Given the description of an element on the screen output the (x, y) to click on. 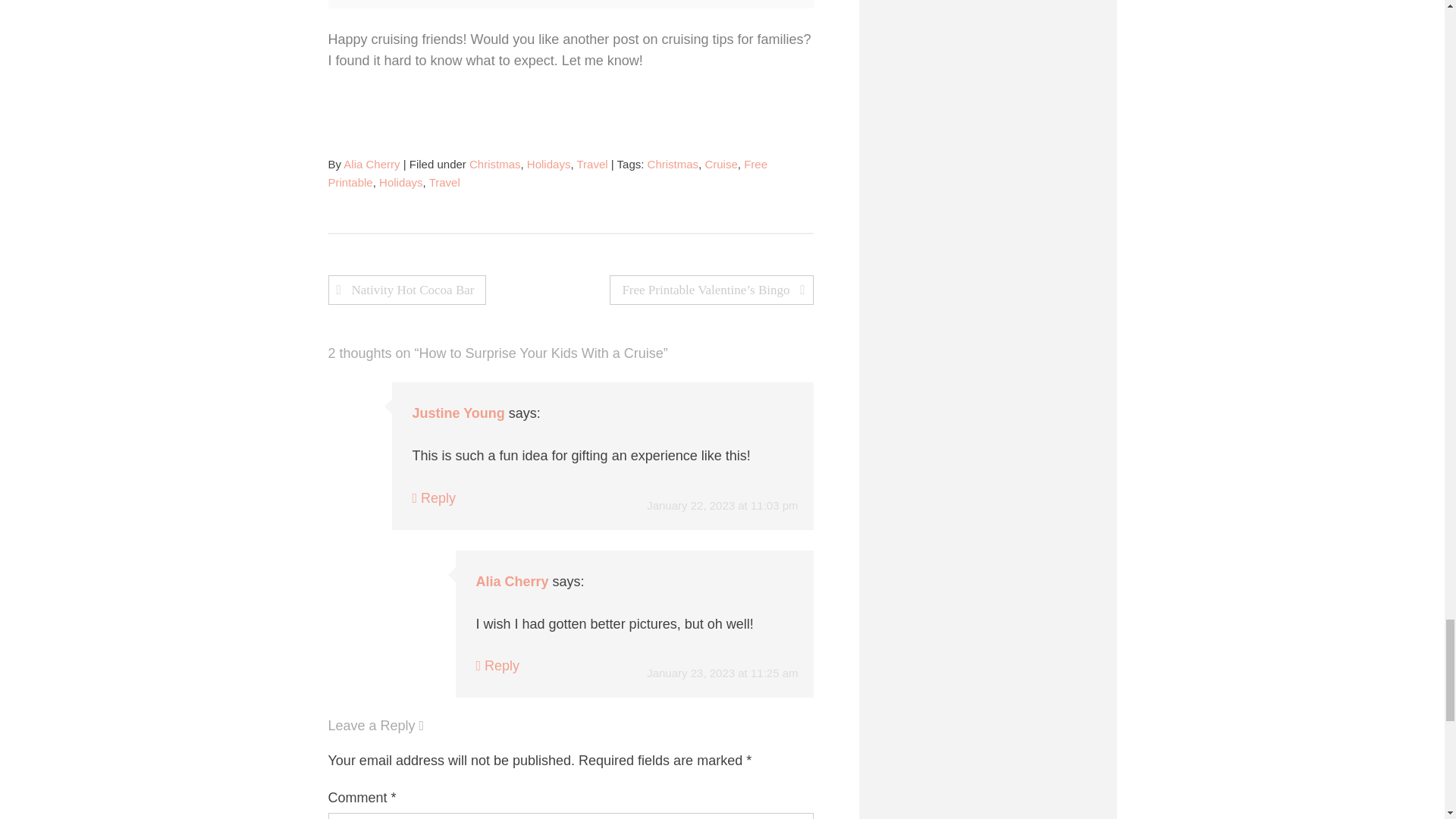
Alia Cherry (370, 164)
